Given the description of an element on the screen output the (x, y) to click on. 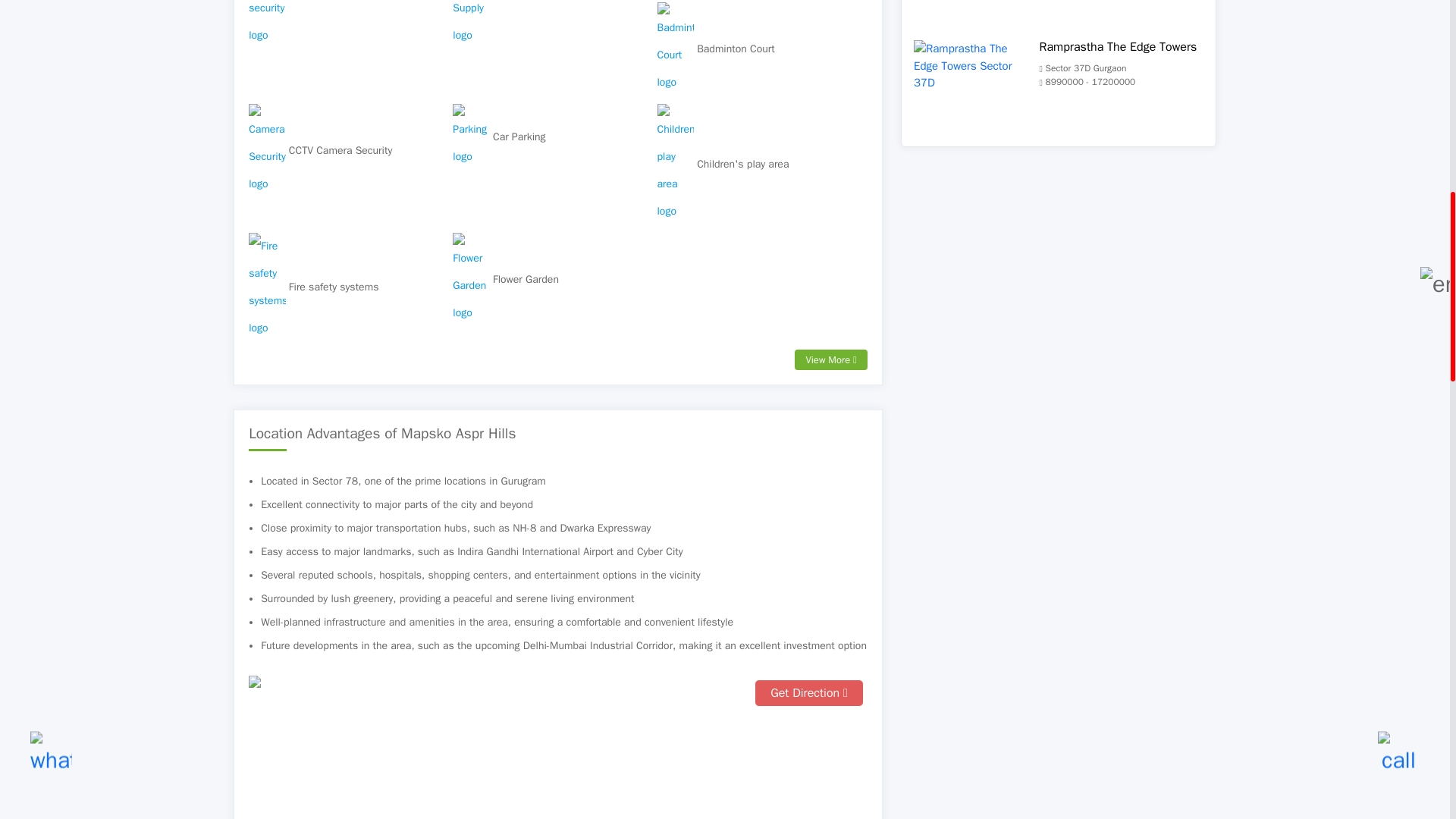
Get Direction (808, 692)
View More (830, 360)
Get Direction (557, 788)
